Given the description of an element on the screen output the (x, y) to click on. 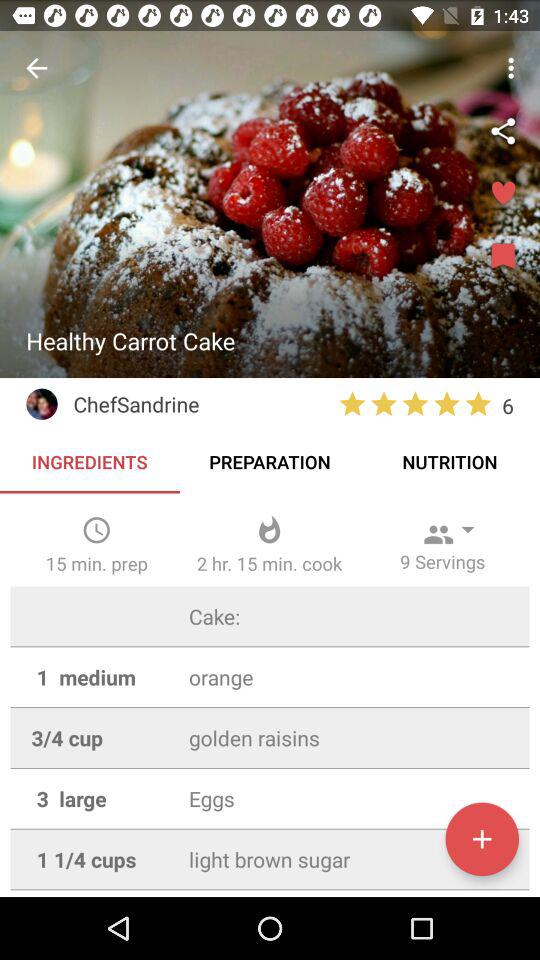
like button (503, 194)
